Given the description of an element on the screen output the (x, y) to click on. 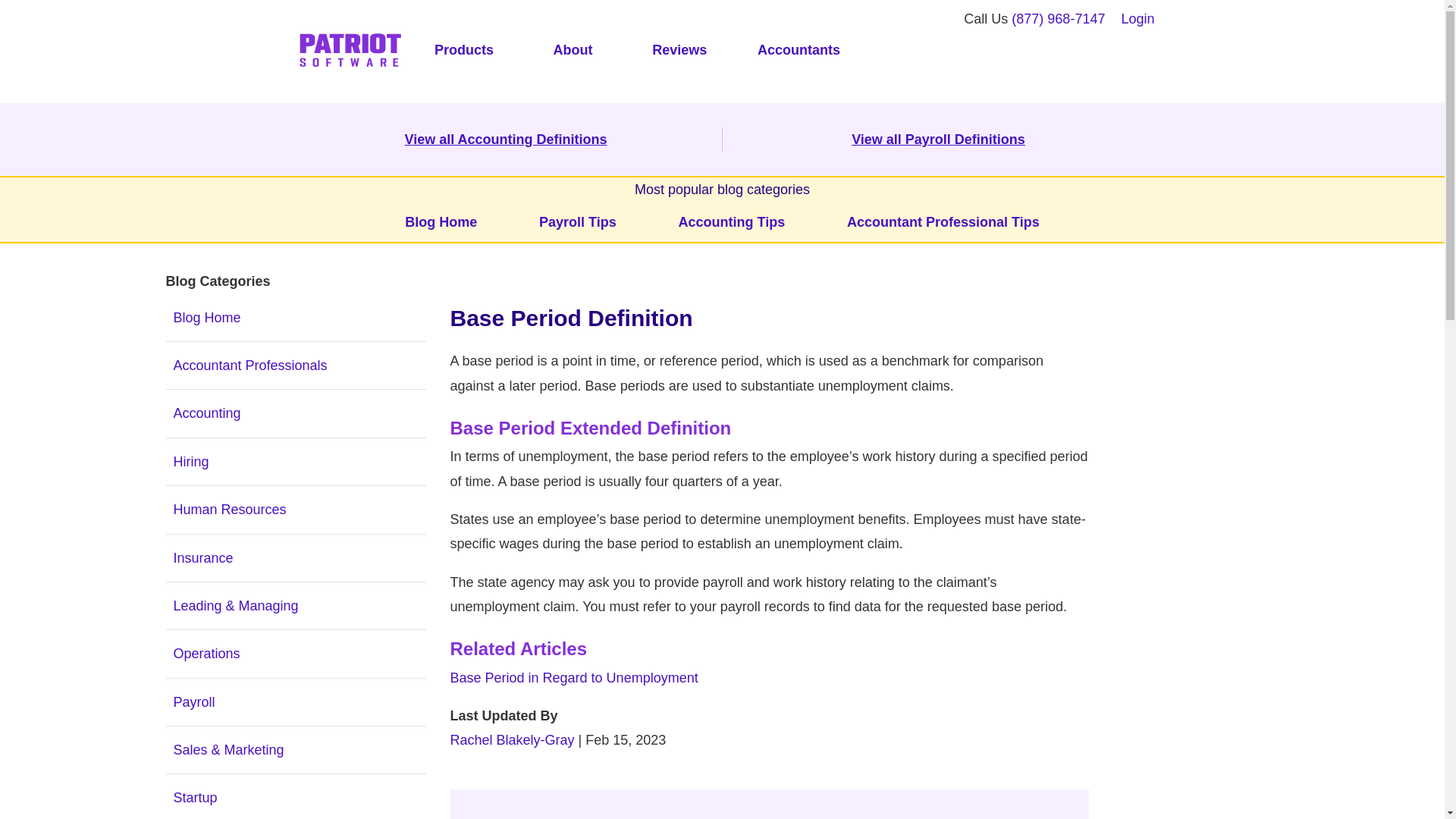
Accounting Tips (732, 222)
Blog Home (295, 317)
Blog Home (440, 222)
Accountants (798, 50)
View all Accounting Definitions (505, 139)
Accountant Professionals (295, 365)
Reviews (679, 50)
About (572, 50)
Products (463, 50)
